Given the description of an element on the screen output the (x, y) to click on. 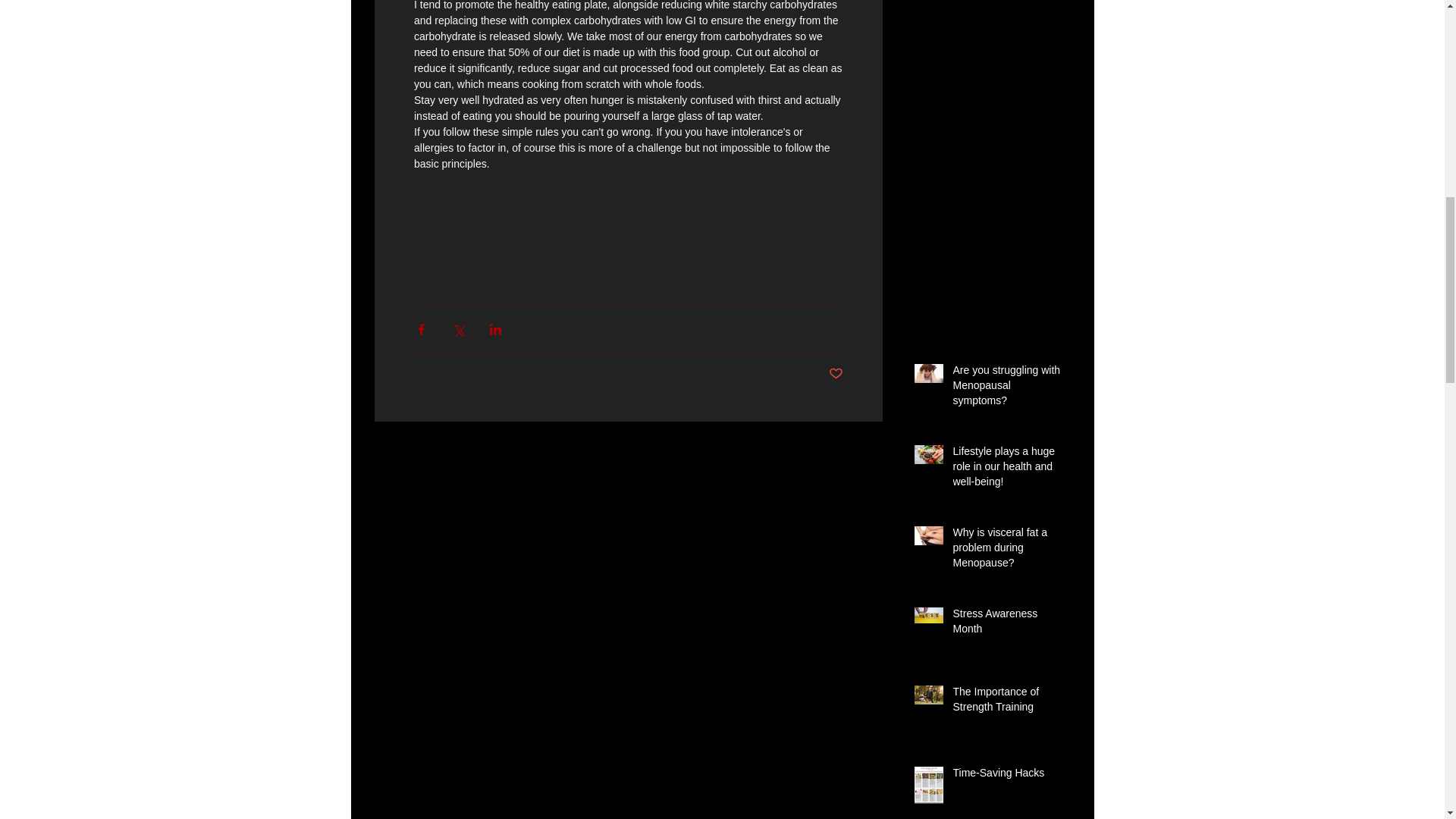
The Importance of Strength Training (1006, 702)
Time-Saving Hacks (1006, 776)
Why is visceral fat a problem during Menopause? (1006, 550)
Post not marked as liked (835, 374)
Stress Awareness Month (1006, 624)
Lifestyle plays a huge role in our health and well-being! (1006, 469)
Are you struggling with Menopausal symptoms? (1006, 388)
